Given the description of an element on the screen output the (x, y) to click on. 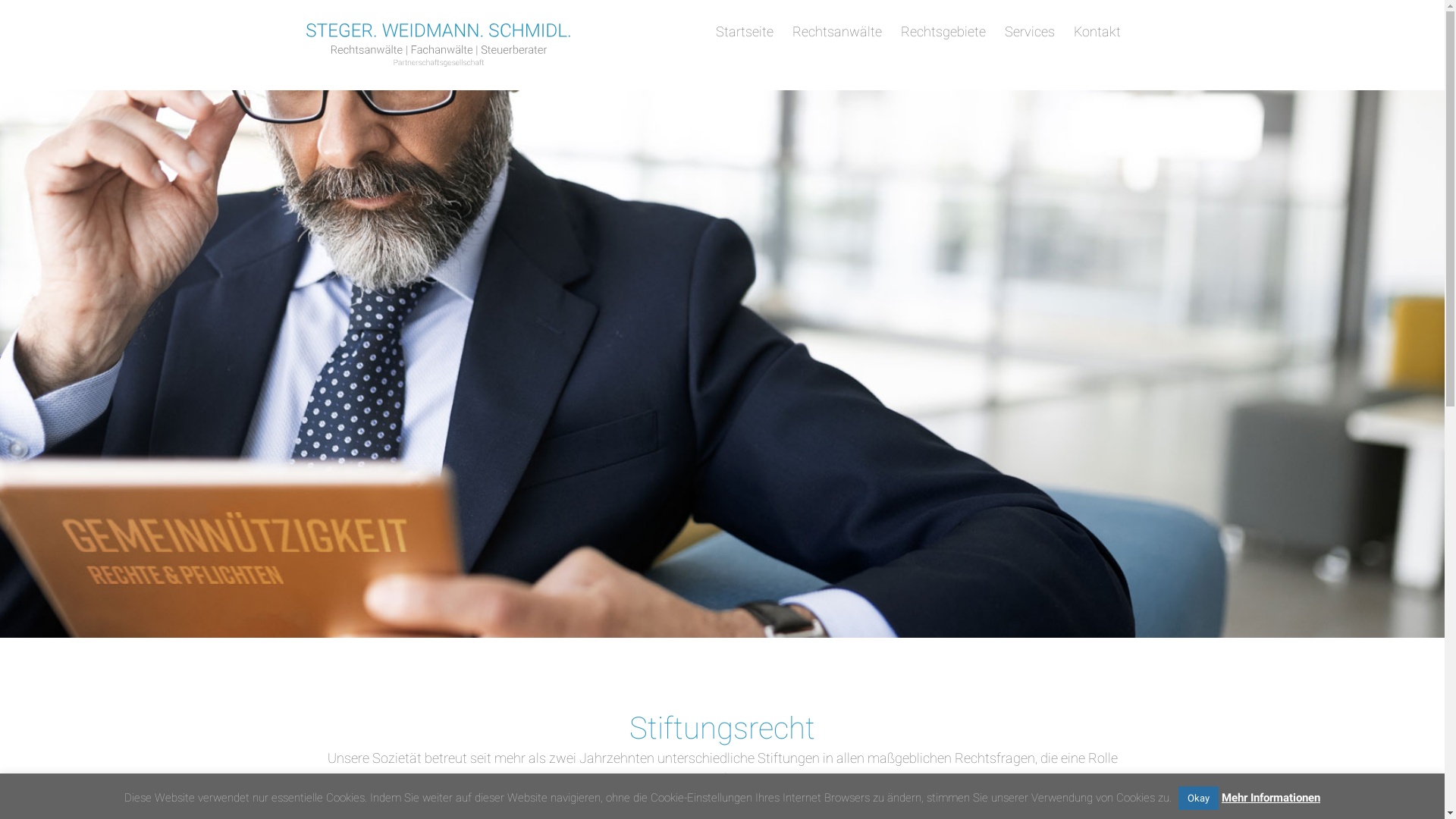
Okay Element type: text (1198, 797)
Services Element type: text (1029, 31)
Kontakt Element type: text (1096, 31)
Rechtsgebiete Element type: text (942, 31)
Startseite Element type: text (744, 31)
Mehr Informationen Element type: text (1270, 797)
